Given the description of an element on the screen output the (x, y) to click on. 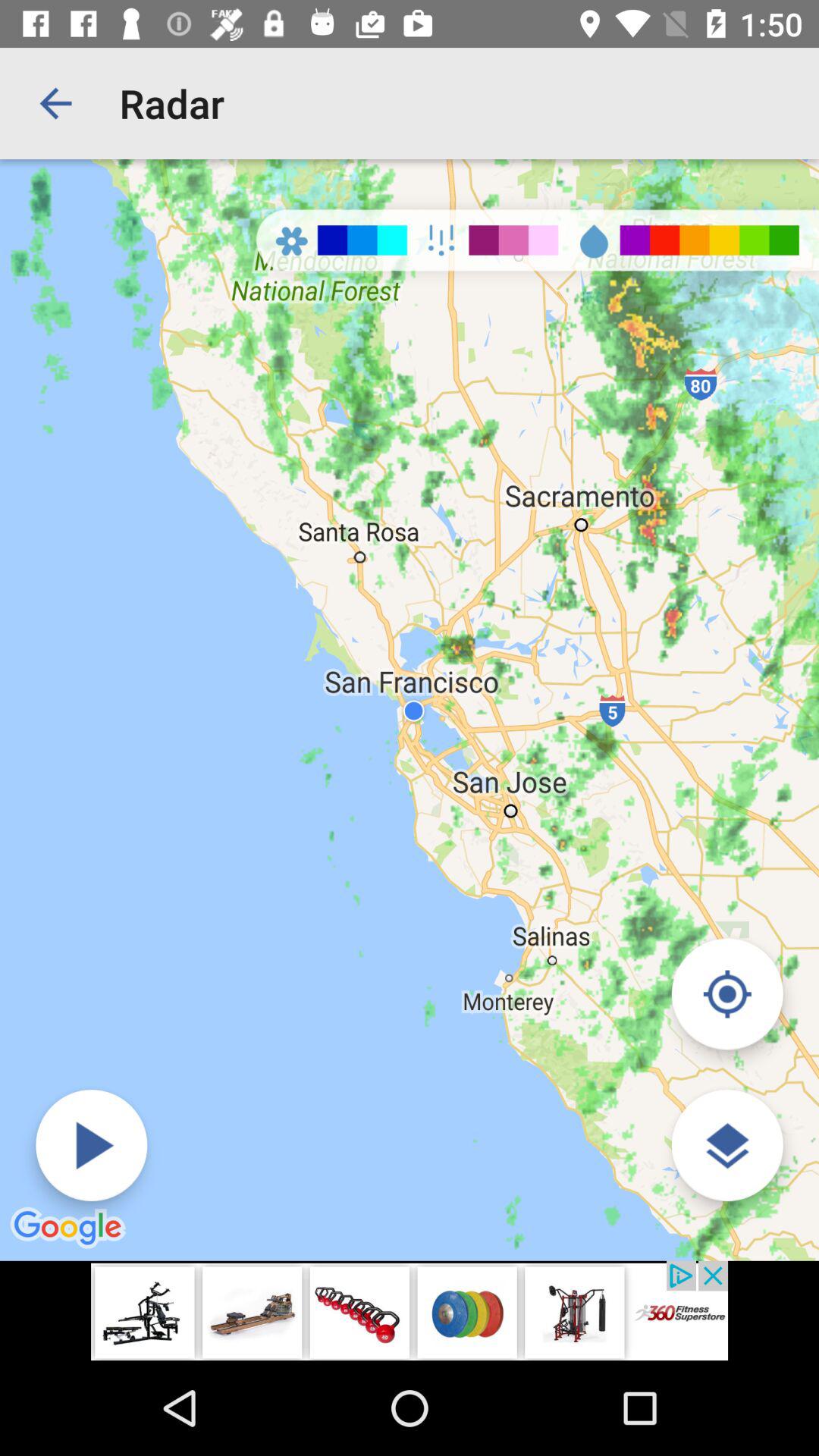
my location (727, 993)
